Given the description of an element on the screen output the (x, y) to click on. 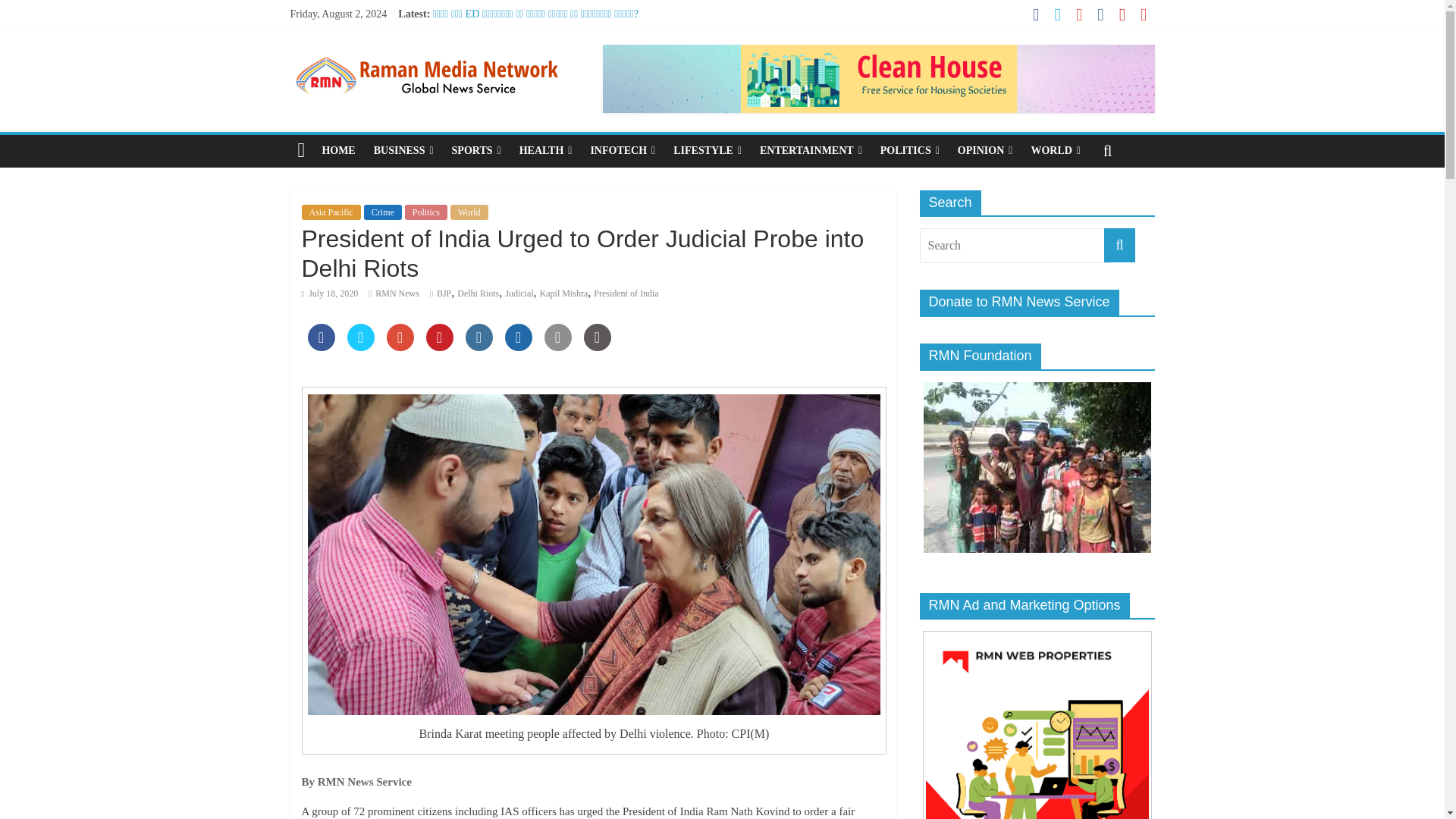
Sales and Marketing Executives for RMN News Services (554, 30)
Raman Media Network (425, 53)
LIFESTYLE (707, 151)
Sales and Marketing Executives for RMN News Services (554, 30)
Research Project on Corruption in India Launched for 2024 (558, 81)
INFOTECH (621, 151)
BUSINESS (403, 151)
RMN News (397, 293)
HEALTH (545, 151)
Research Project on Corruption in India Launched for 2024 (558, 81)
4:57 PM (329, 293)
HOME (338, 151)
ENTERTAINMENT (810, 151)
